Given the description of an element on the screen output the (x, y) to click on. 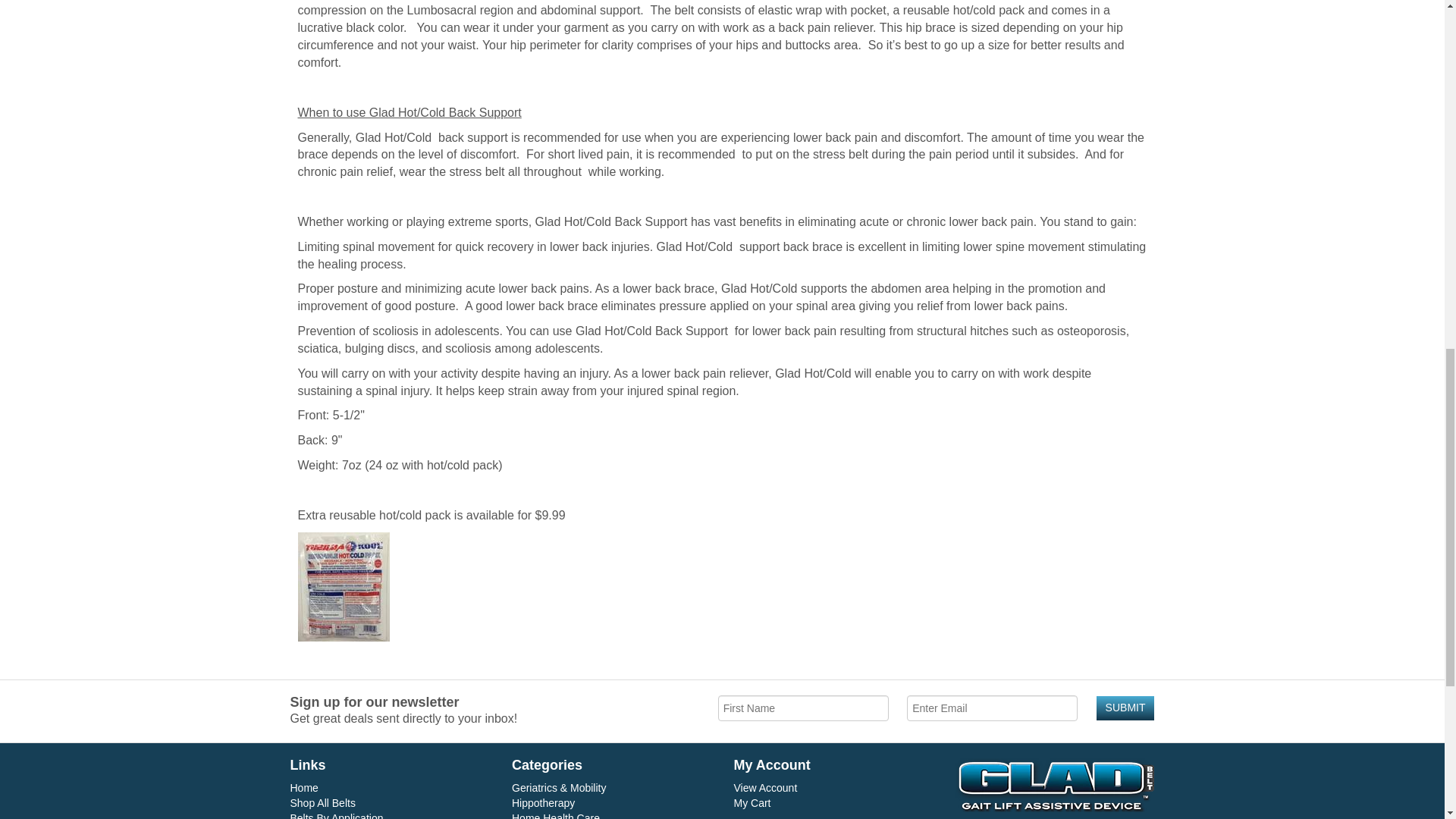
Shop All Belts (322, 802)
Belts By Application (335, 815)
Home (303, 787)
SUBMIT (1125, 708)
